Given the description of an element on the screen output the (x, y) to click on. 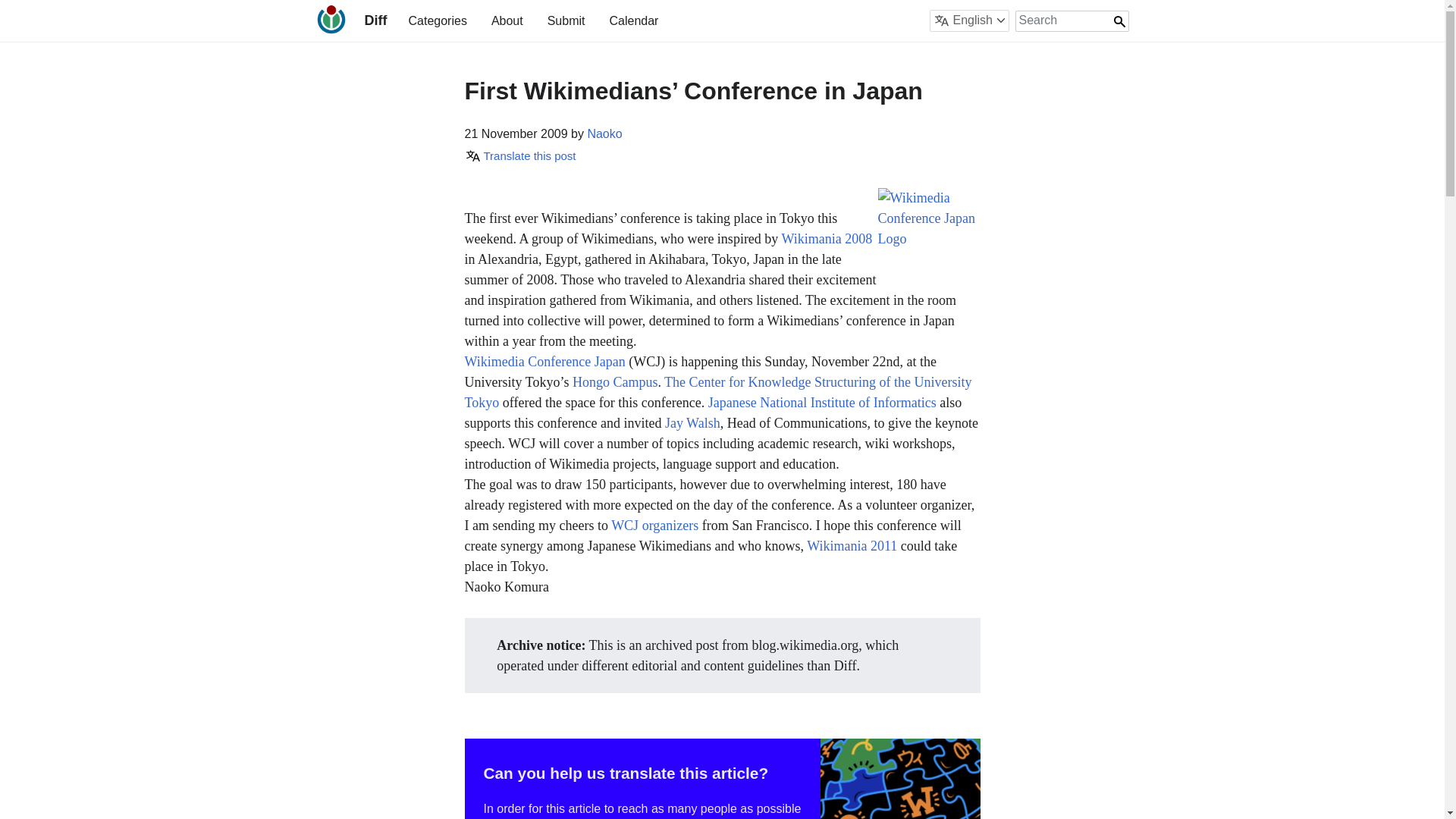
Wikimedia Conference Japan  (928, 236)
Naoko (603, 133)
Jay Walsh (692, 422)
Posts by Naoko (603, 133)
main-navigation (532, 20)
WCJ organizers (654, 525)
secondary-navigation (902, 20)
Wikimania 2011 (851, 545)
Hongo Campus (615, 381)
Japanese National Institute of Informatics (821, 402)
Diff (375, 20)
Wikimania 2008 (826, 238)
Calendar (632, 20)
Submit (566, 20)
Translate this post (519, 155)
